Given the description of an element on the screen output the (x, y) to click on. 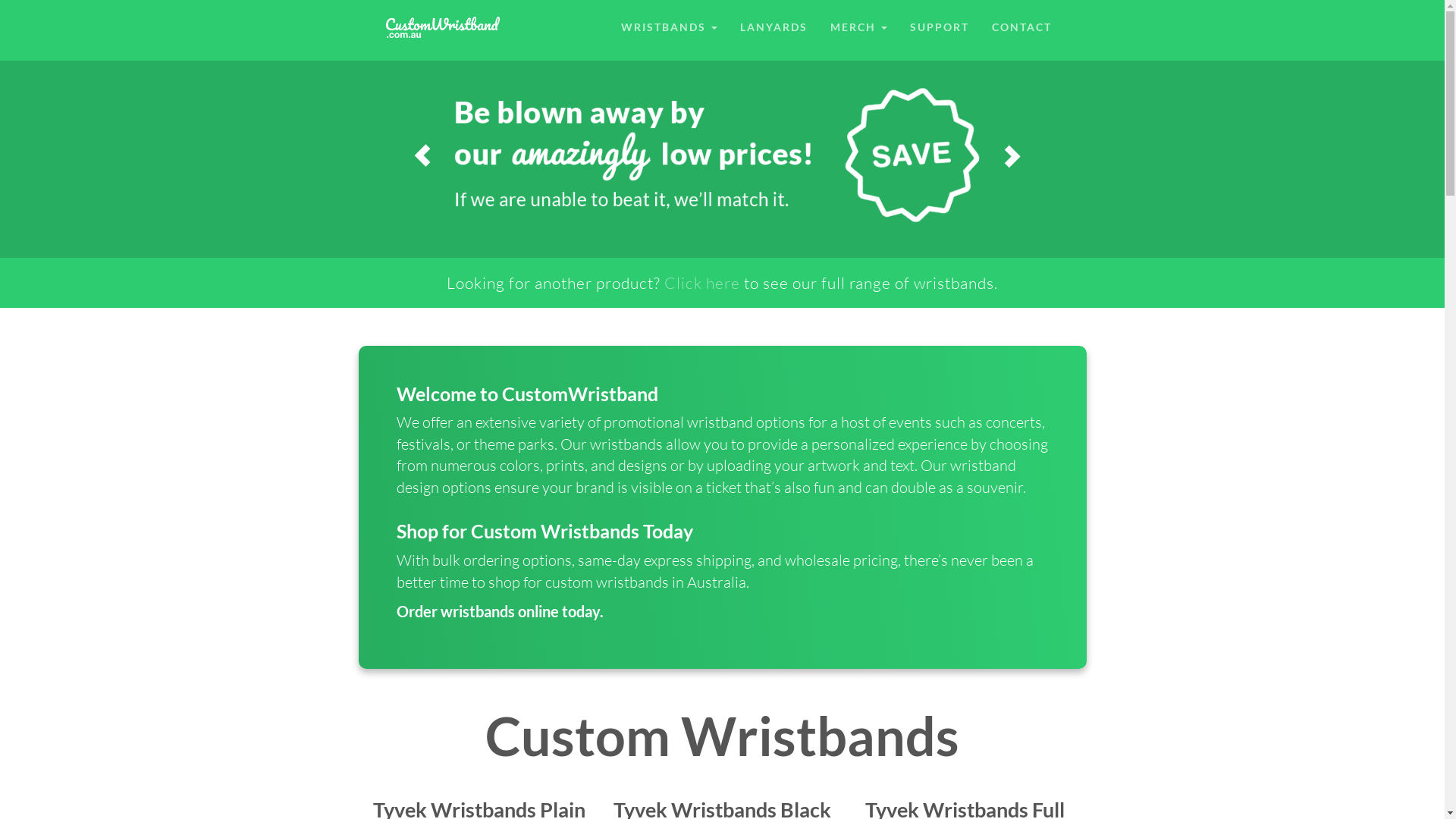
LANYARDS Element type: text (772, 27)
SUPPORT Element type: text (938, 27)
Click here Element type: text (702, 282)
WRISTBANDS Element type: text (669, 27)
MERCH Element type: text (858, 27)
CONTACT Element type: text (1020, 27)
